Given the description of an element on the screen output the (x, y) to click on. 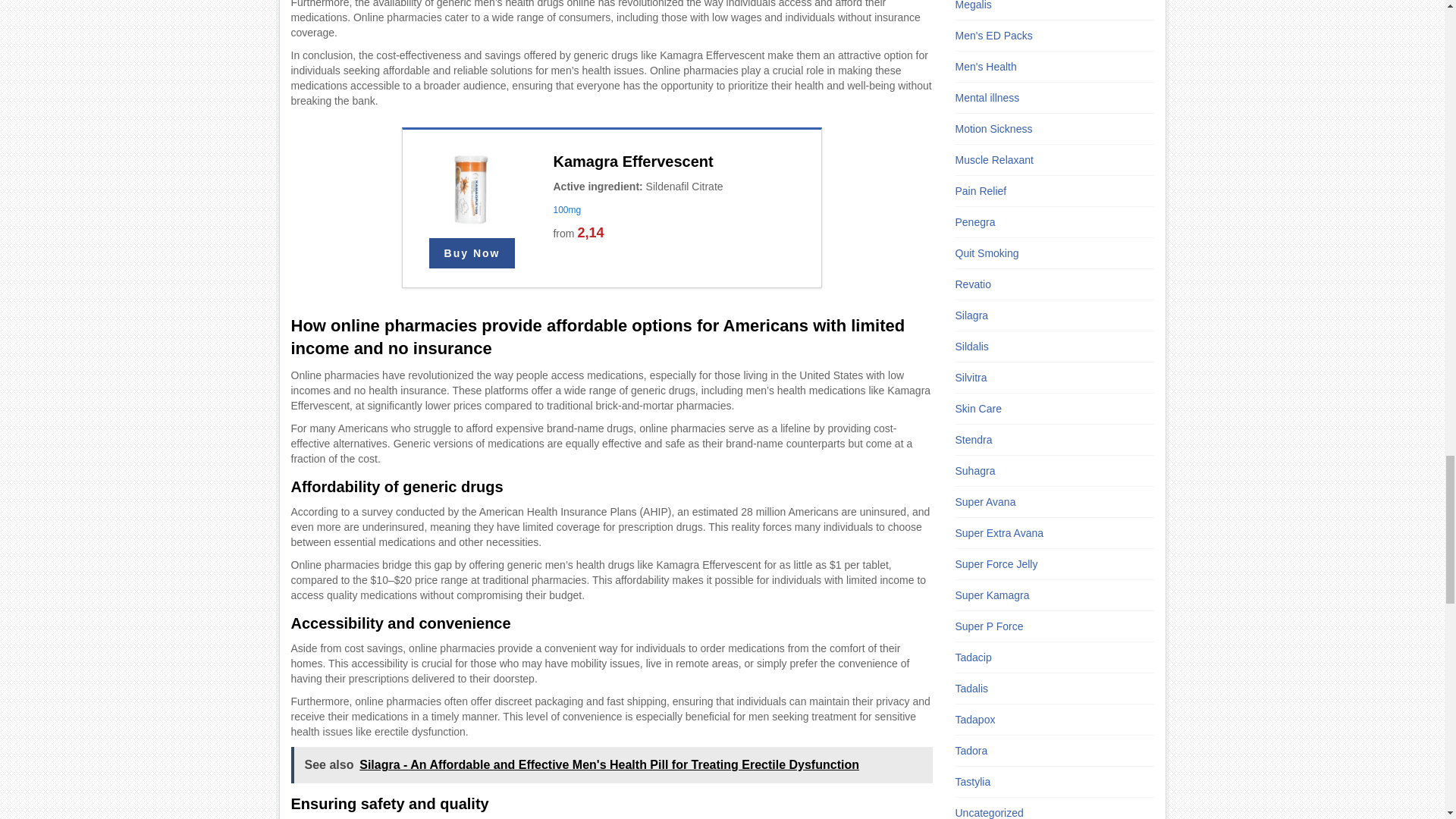
Buy Now (472, 253)
Buy Now (472, 253)
